Given the description of an element on the screen output the (x, y) to click on. 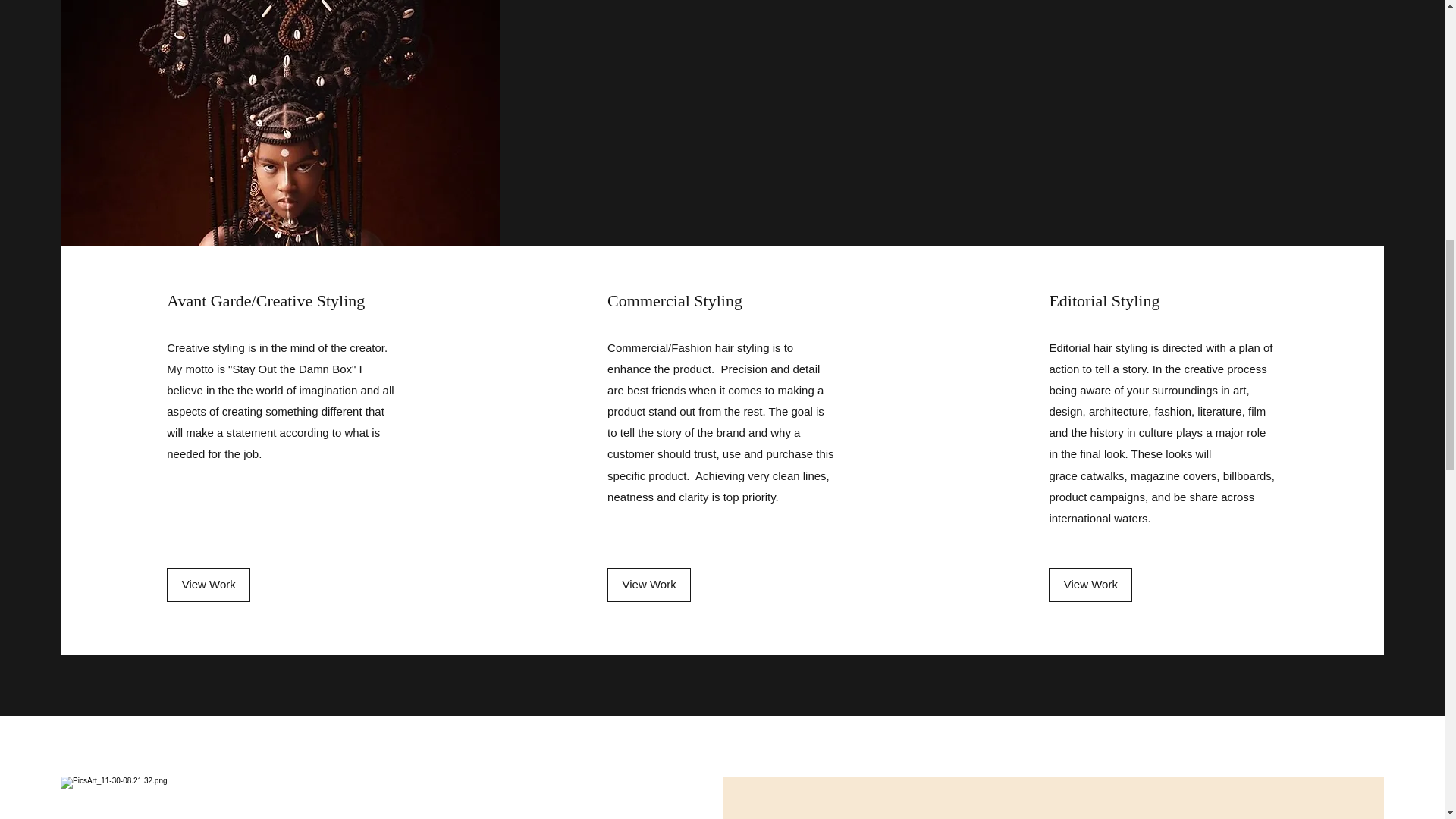
View Work (648, 584)
View Work (1090, 584)
View Work (208, 584)
